Given the description of an element on the screen output the (x, y) to click on. 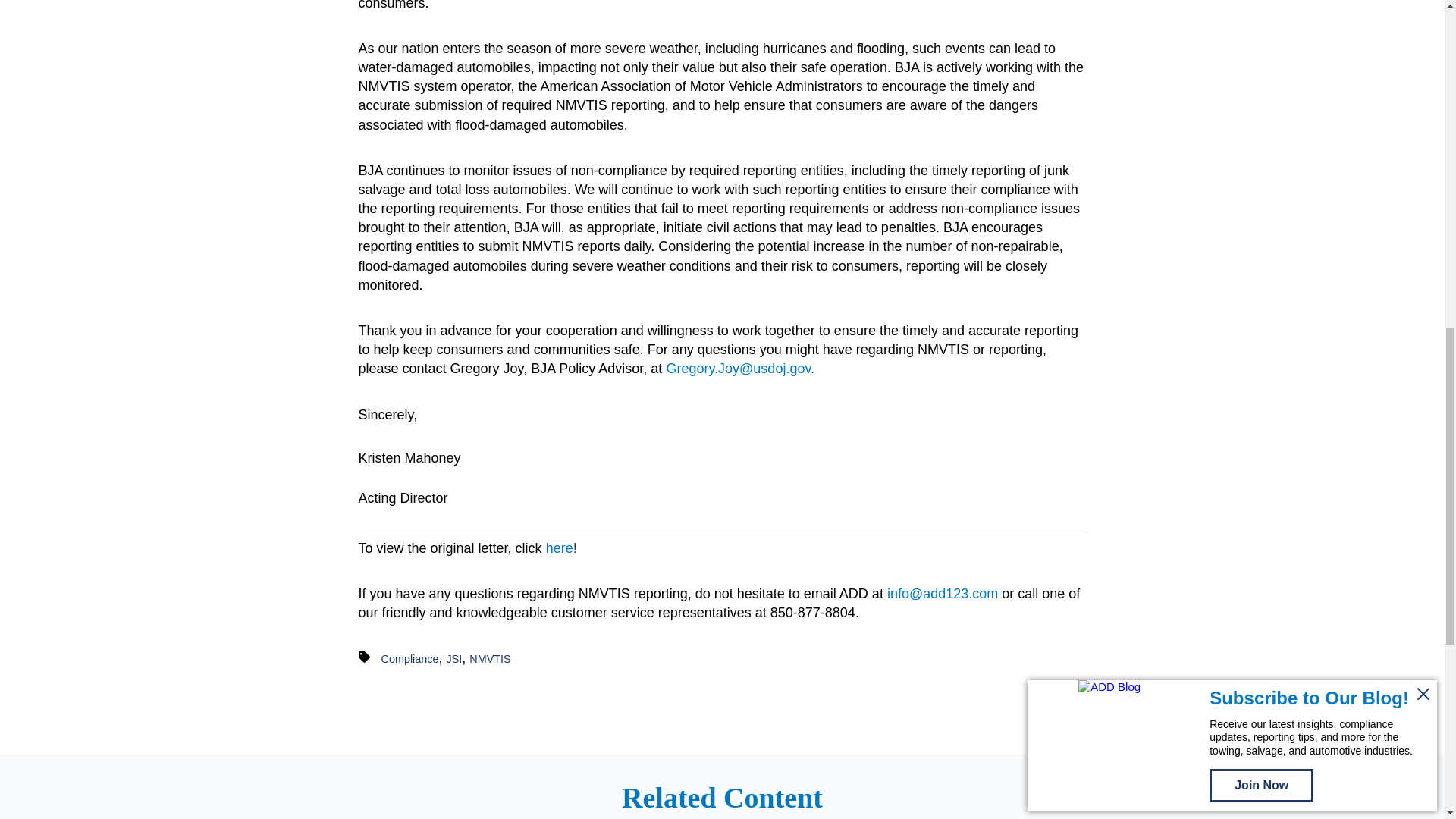
Compliance (410, 658)
NMVTIS (489, 658)
JSI (454, 658)
here (559, 548)
